Given the description of an element on the screen output the (x, y) to click on. 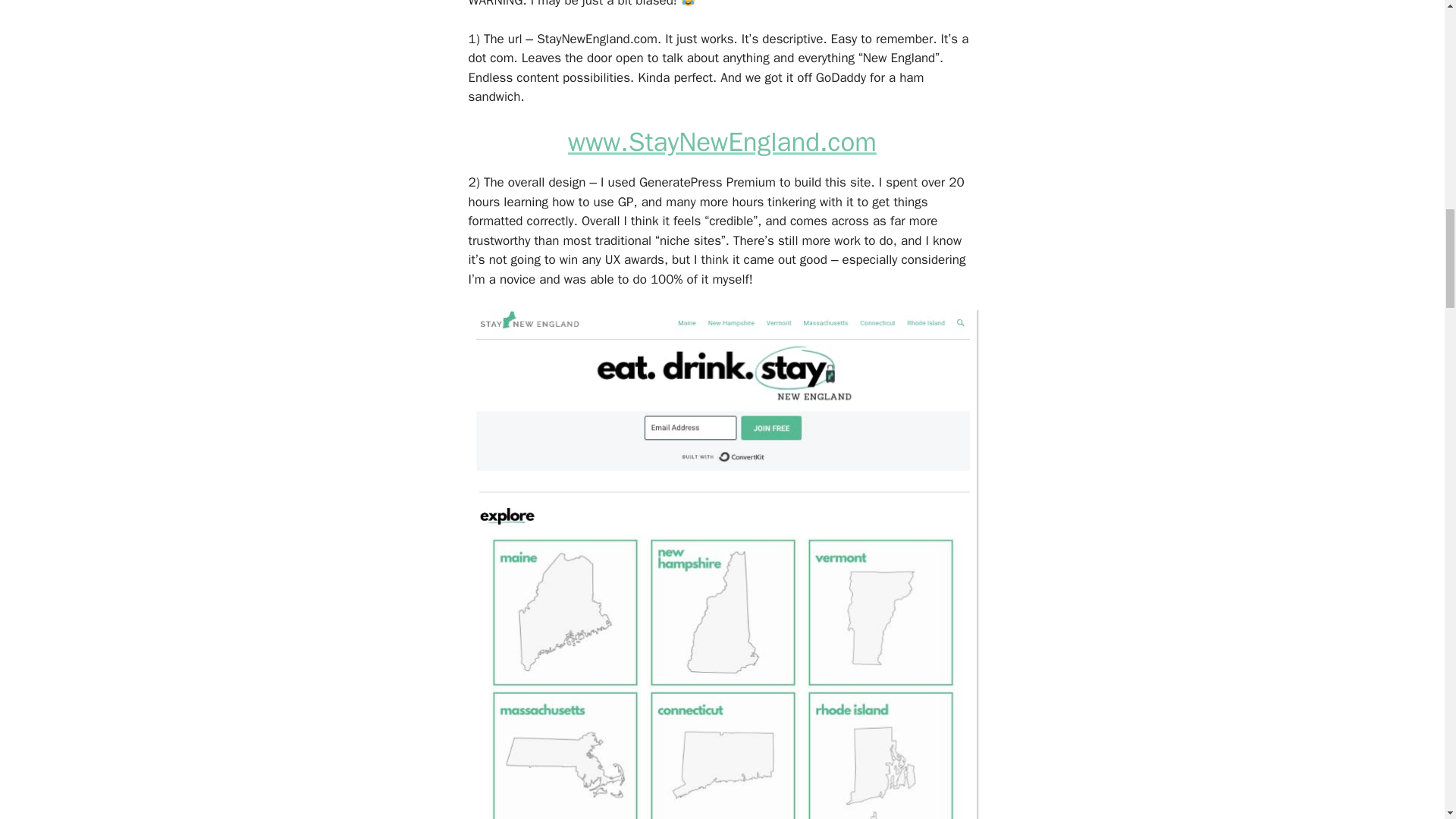
www.StayNewEngland.com (721, 141)
